Given the description of an element on the screen output the (x, y) to click on. 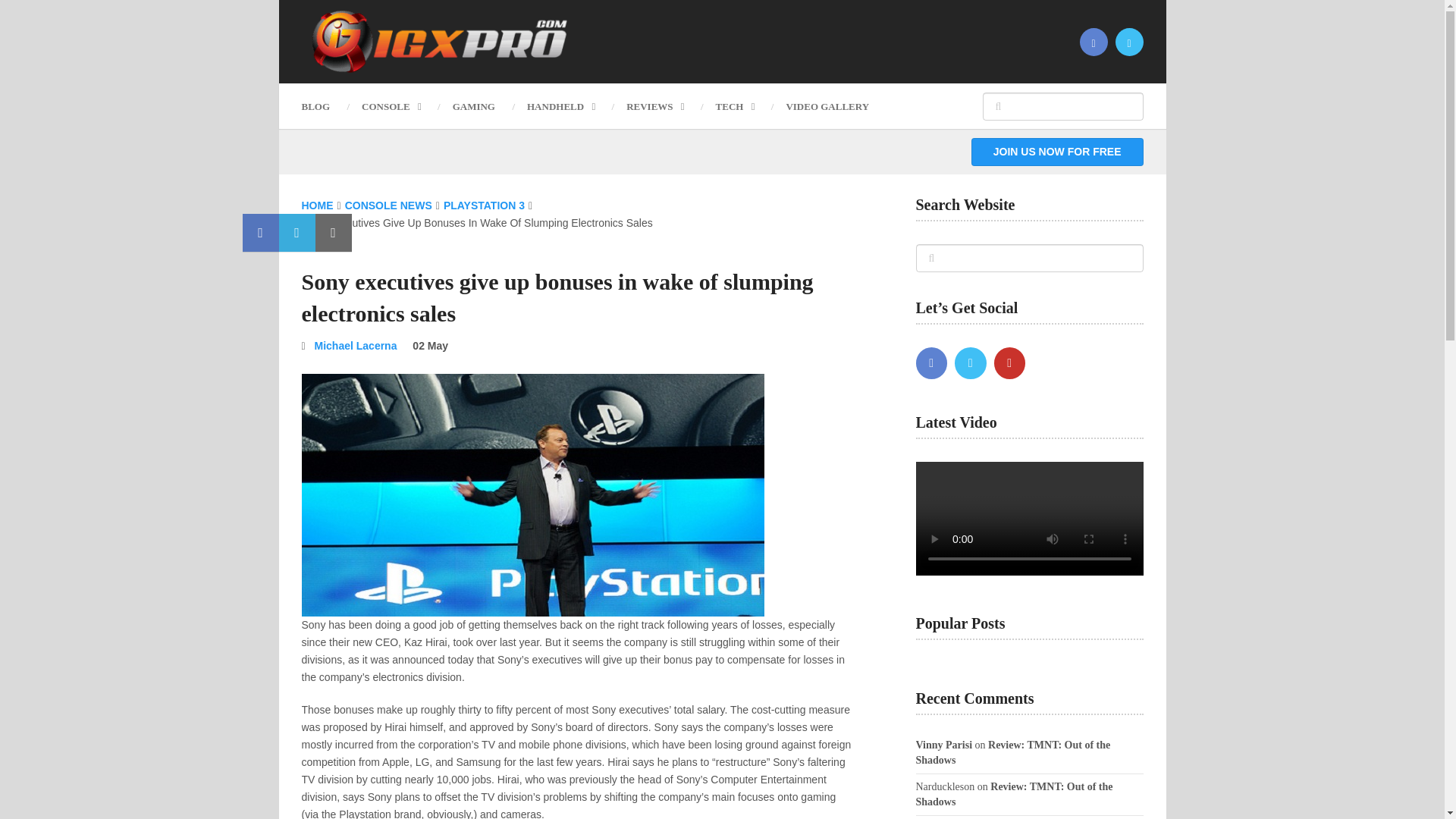
JOIN US NOW FOR FREE (1056, 152)
CONSOLE NEWS (388, 205)
HANDHELD (560, 105)
Posts by Michael Lacerna (355, 345)
Michael Lacerna (355, 345)
REVIEWS (654, 105)
HOME (317, 205)
BLOG (323, 105)
GAMING (473, 105)
TECH (735, 105)
